Given the description of an element on the screen output the (x, y) to click on. 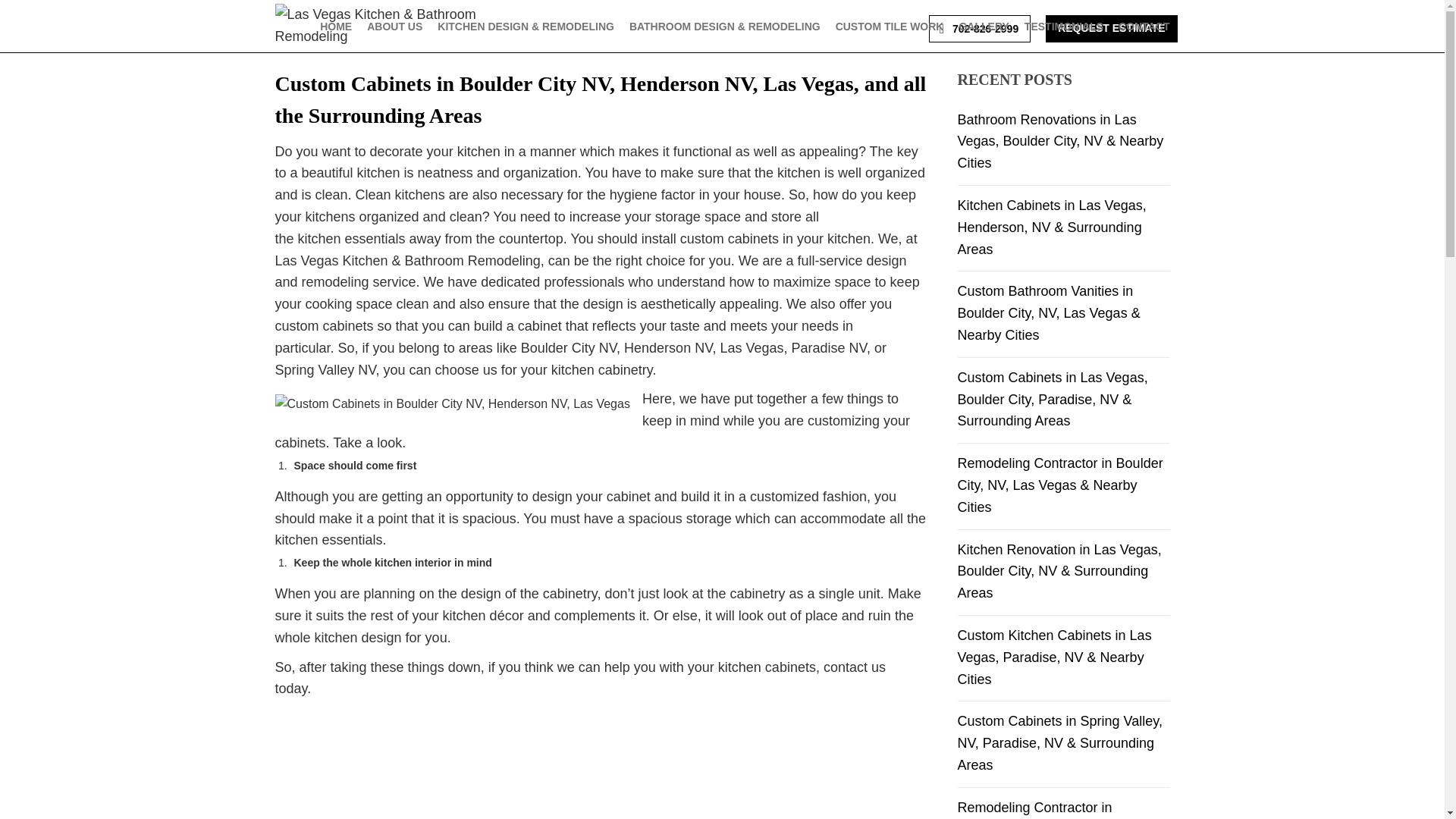
CUSTOM TILE WORK (889, 26)
HOME (336, 26)
TESTIMONIALS (1064, 26)
REQUEST ESTIMATE (1110, 28)
ABOUT US (394, 26)
GALLERY (983, 26)
CONTACT (1143, 26)
702-826-2999 (979, 28)
customizing your cabinets (592, 431)
